Given the description of an element on the screen output the (x, y) to click on. 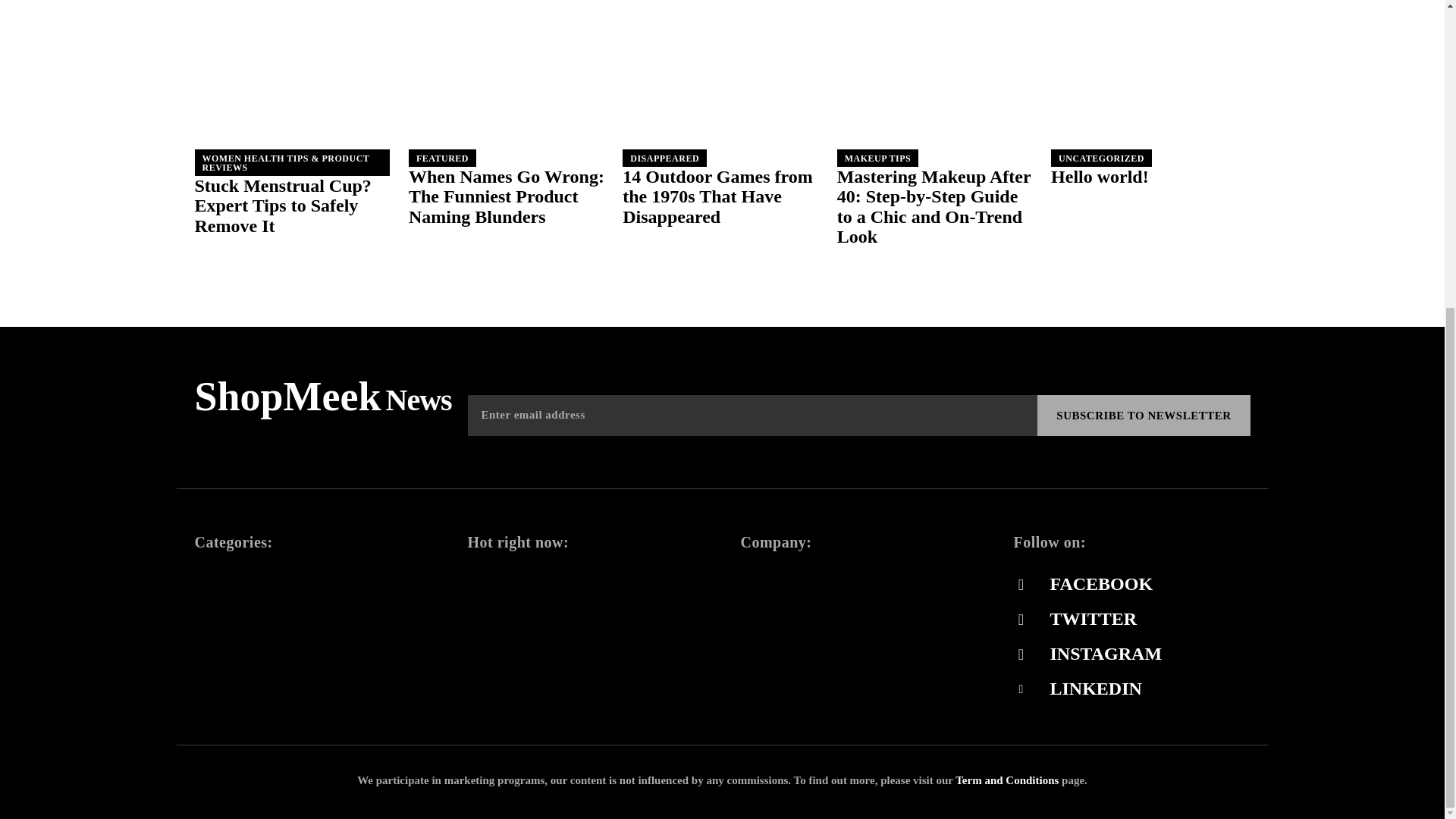
Stuck Menstrual Cup? Expert Tips to Safely Remove It (282, 205)
When Names Go Wrong: The Funniest Product Naming Blunders (508, 89)
Stuck Menstrual Cup? Expert Tips to Safely Remove It (293, 89)
When Names Go Wrong: The Funniest Product Naming Blunders (506, 196)
